Given the description of an element on the screen output the (x, y) to click on. 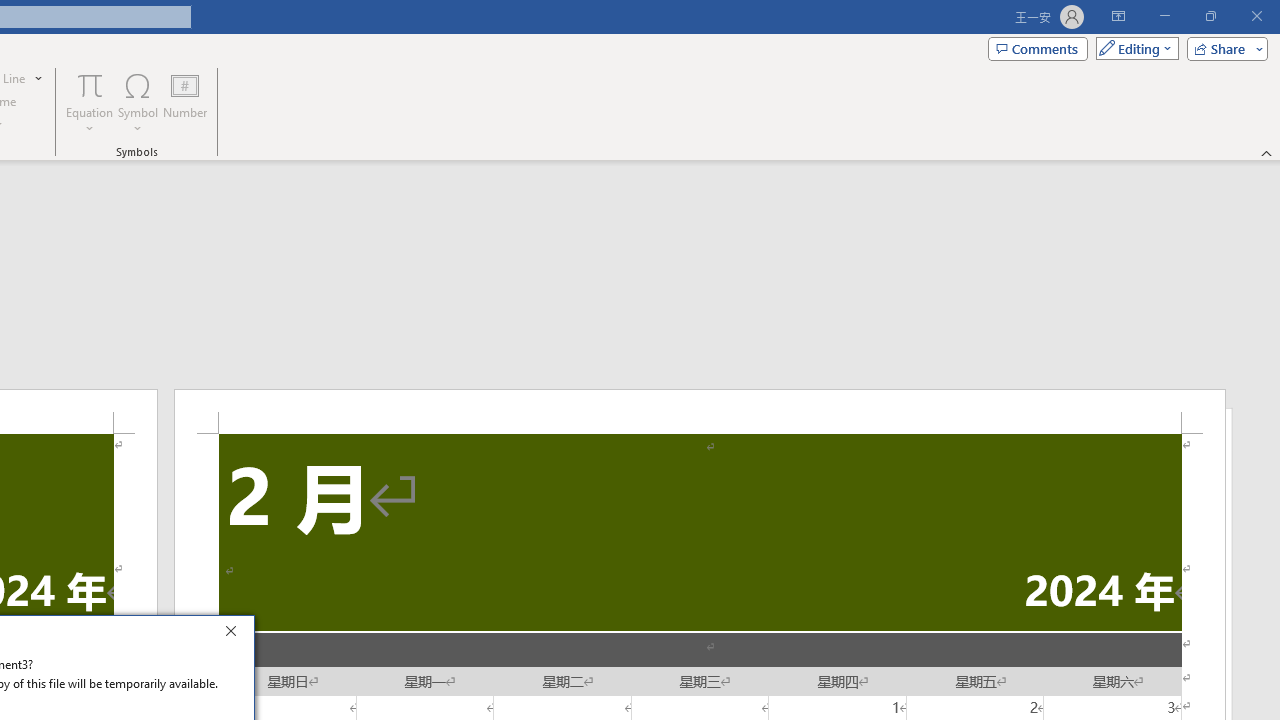
Header -Section 2- (700, 411)
Symbol (138, 102)
Number... (185, 102)
